Given the description of an element on the screen output the (x, y) to click on. 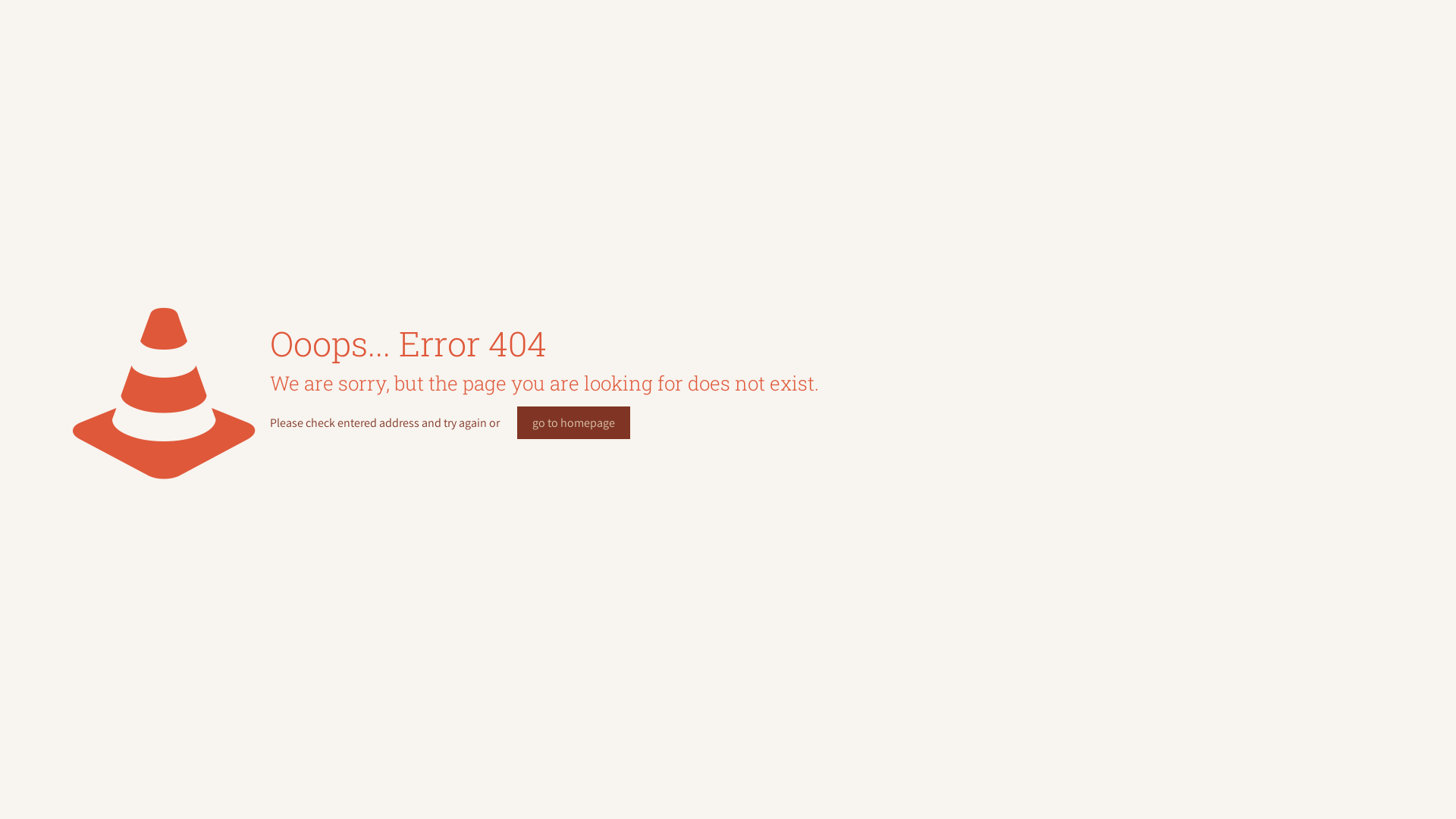
go to homepage Element type: text (573, 422)
